Given the description of an element on the screen output the (x, y) to click on. 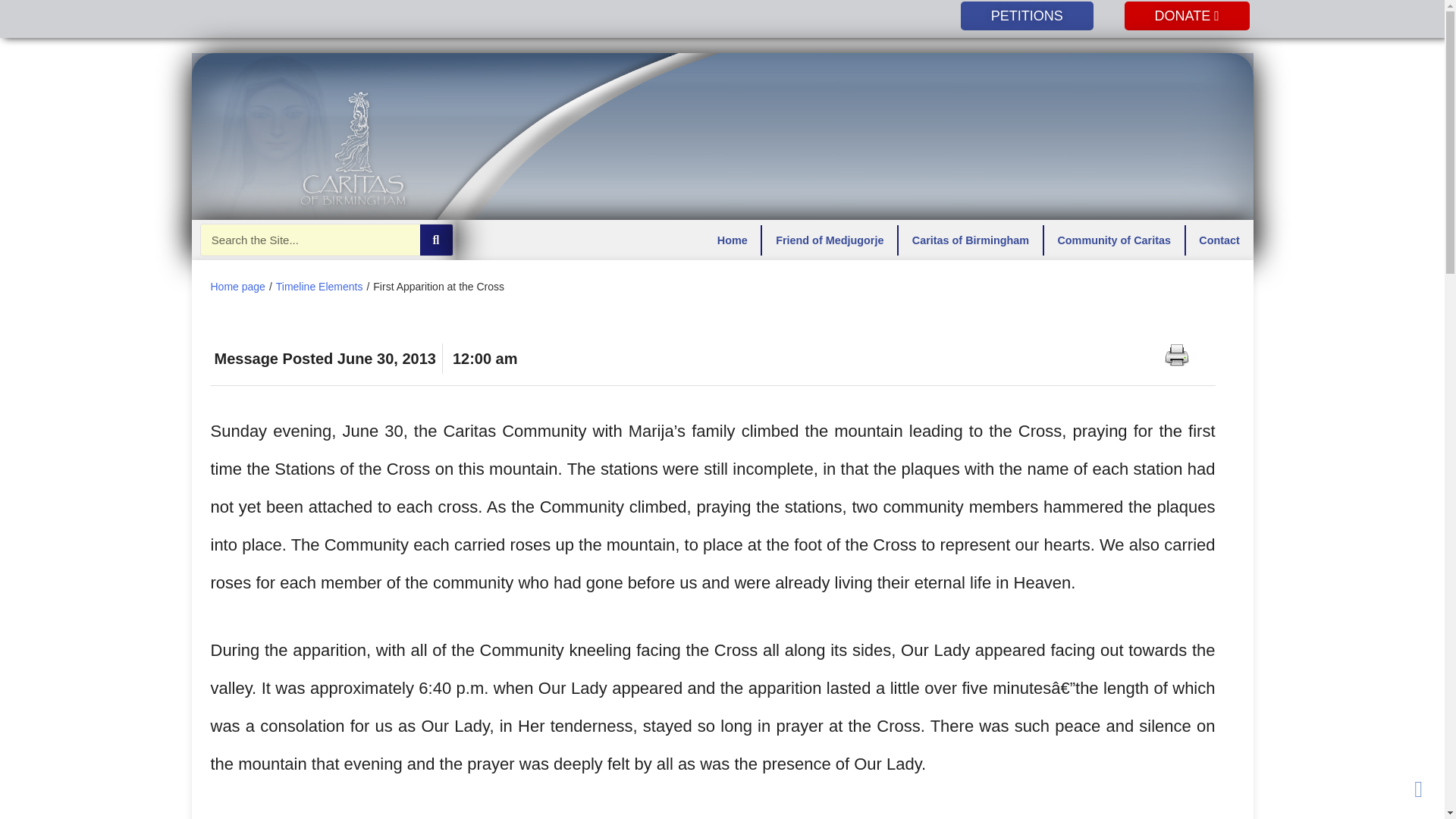
Home page (237, 286)
Timeline Elements (319, 286)
Home (731, 239)
Contact (1219, 239)
Friend of Medjugorje (828, 239)
Timeline Elements (319, 286)
Home page (237, 286)
DONATE (1186, 15)
Community of Caritas (1114, 239)
Caritas of Birmingham (970, 239)
